Given the description of an element on the screen output the (x, y) to click on. 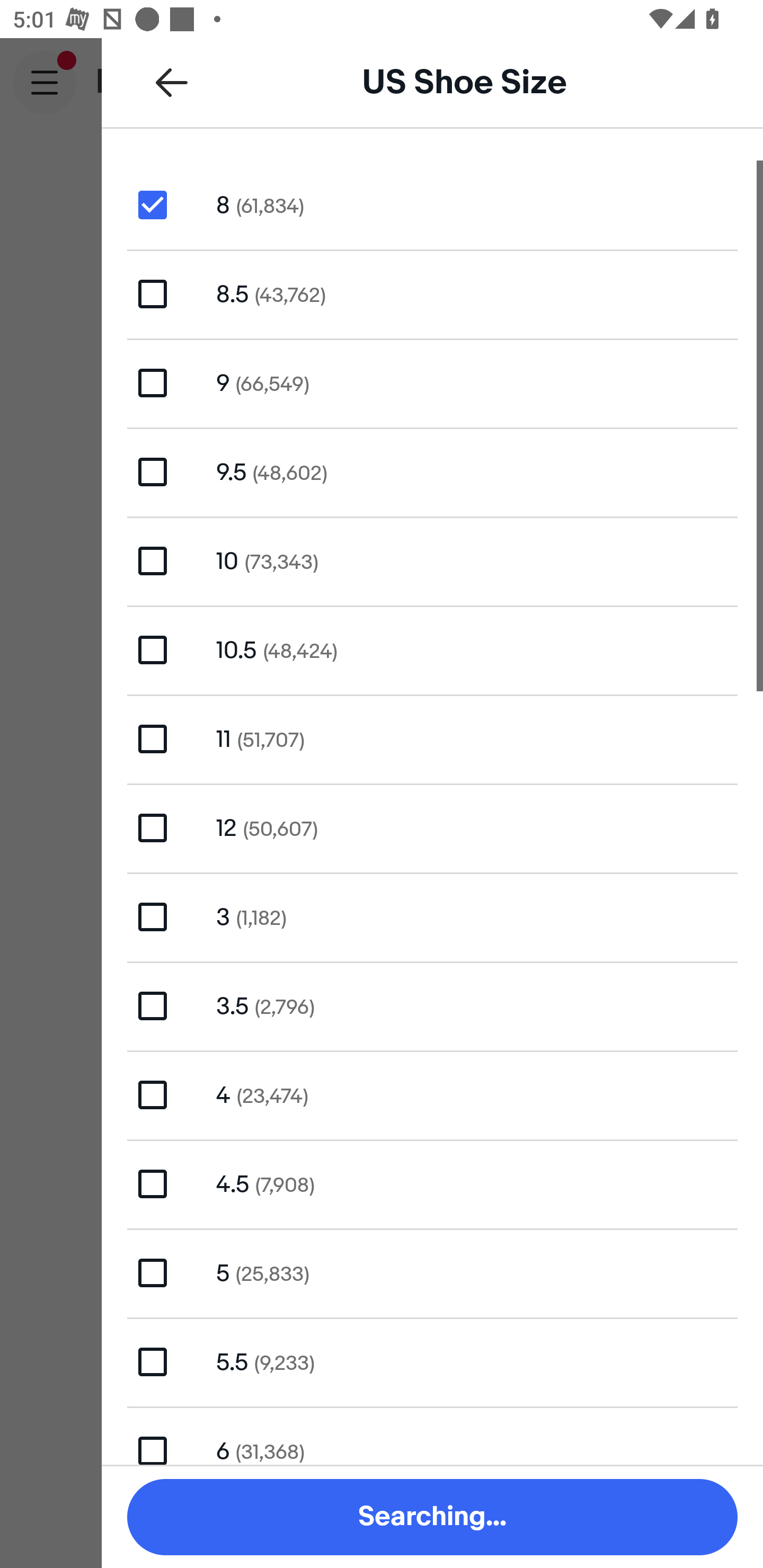
Back to all refinements (171, 81)
8 (61,834) (432, 204)
8.5 (43,762) (432, 293)
9 (66,549) (432, 383)
9.5 (48,602) (432, 471)
10 (73,343) (432, 560)
10.5 (48,424) (432, 649)
11 (51,707) (432, 739)
12 (50,607) (432, 827)
3 (1,182) (432, 916)
3.5 (2,796) (432, 1005)
4 (23,474) (432, 1094)
4.5 (7,908) (432, 1183)
5 (25,833) (432, 1272)
5.5 (9,233) (432, 1361)
6 (31,368) (432, 1435)
Searching... (432, 1516)
